Given the description of an element on the screen output the (x, y) to click on. 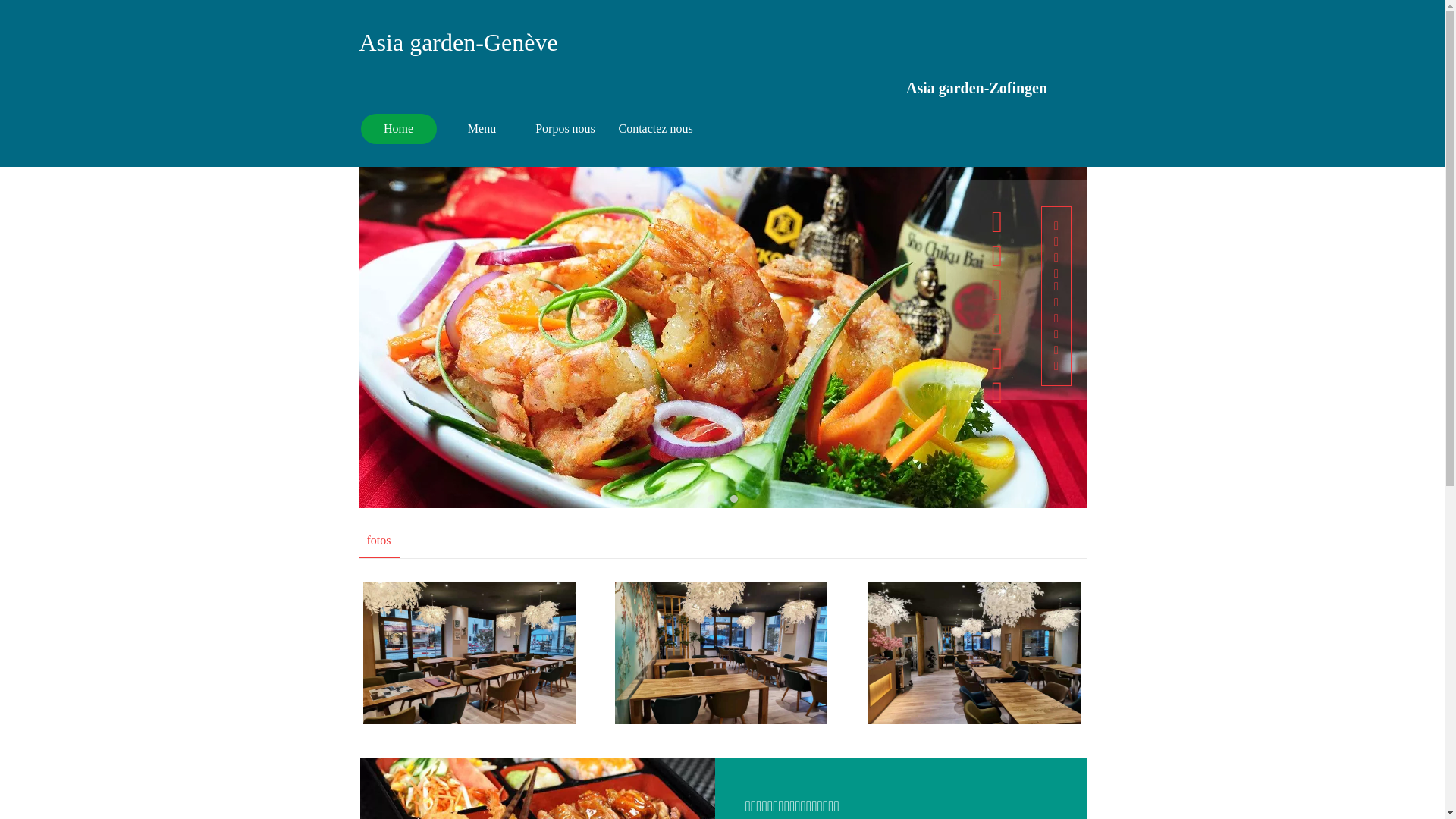
Asia garden-Zofingen Element type: text (975, 87)
Porpos nous Element type: text (565, 128)
Contactez nous Element type: text (655, 128)
Home Element type: text (398, 128)
AIwBCAAQAhgAIJn17NUFKNvO7dIGMIAPOPcJ Element type: hover (468, 652)
Menu Element type: text (481, 128)
Menu Element type: text (482, 128)
Porpos nous Element type: text (565, 128)
Home Element type: text (398, 128)
Contactez nous Element type: text (655, 128)
